Given the description of an element on the screen output the (x, y) to click on. 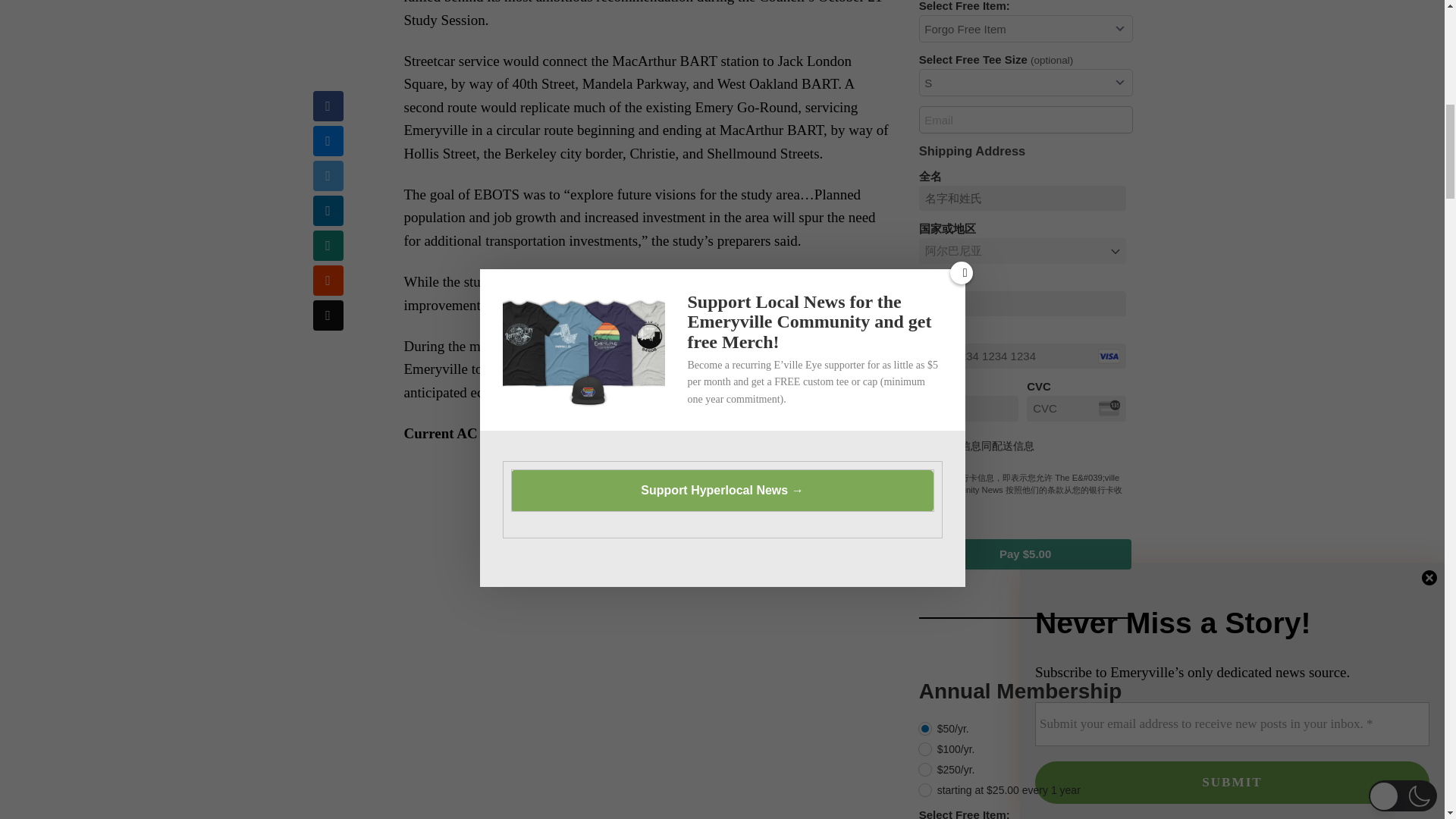
make-a-recurring-annual-payment-1515781151 (924, 728)
